Given the description of an element on the screen output the (x, y) to click on. 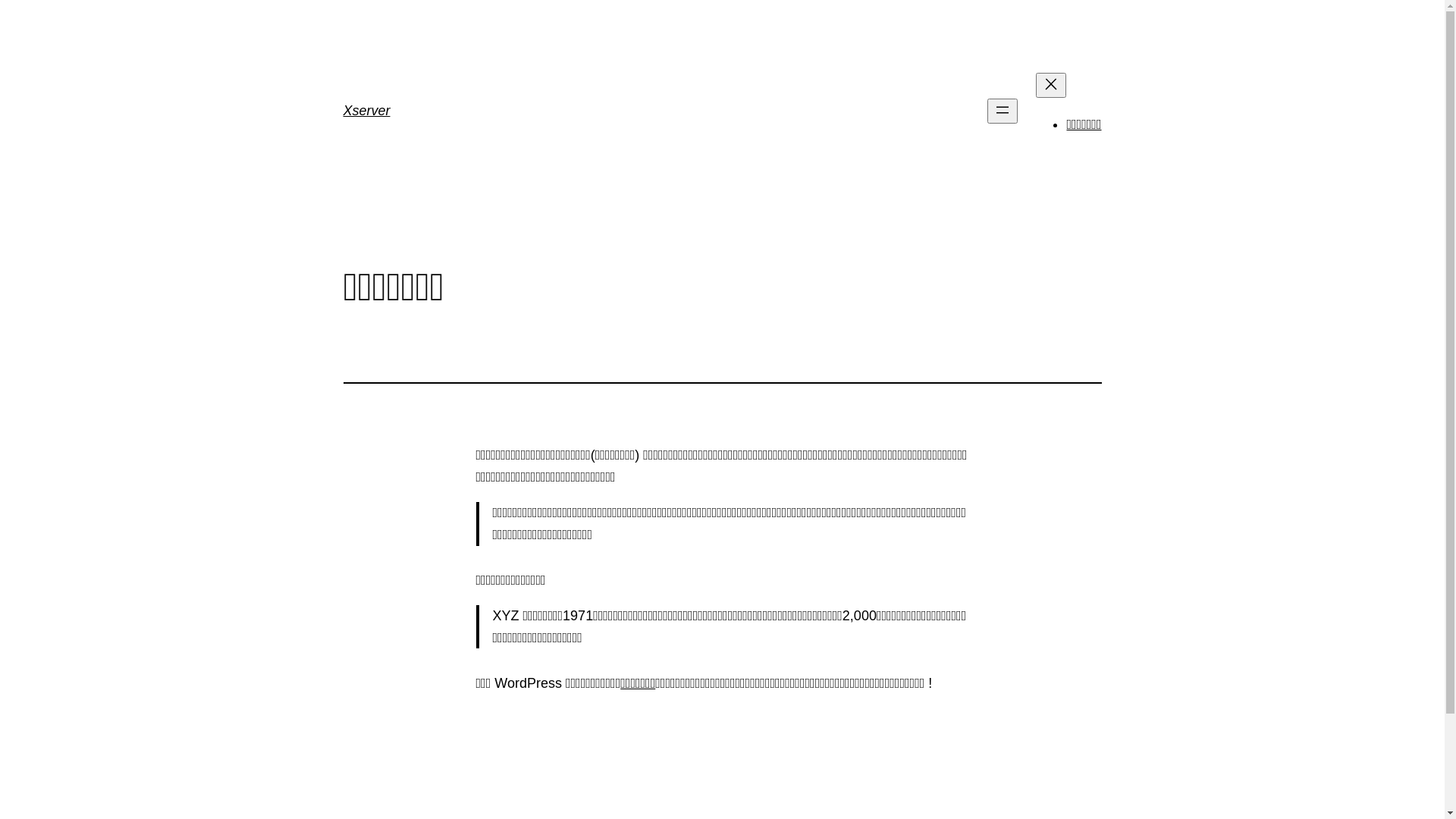
Xserver Element type: text (365, 110)
